Given the description of an element on the screen output the (x, y) to click on. 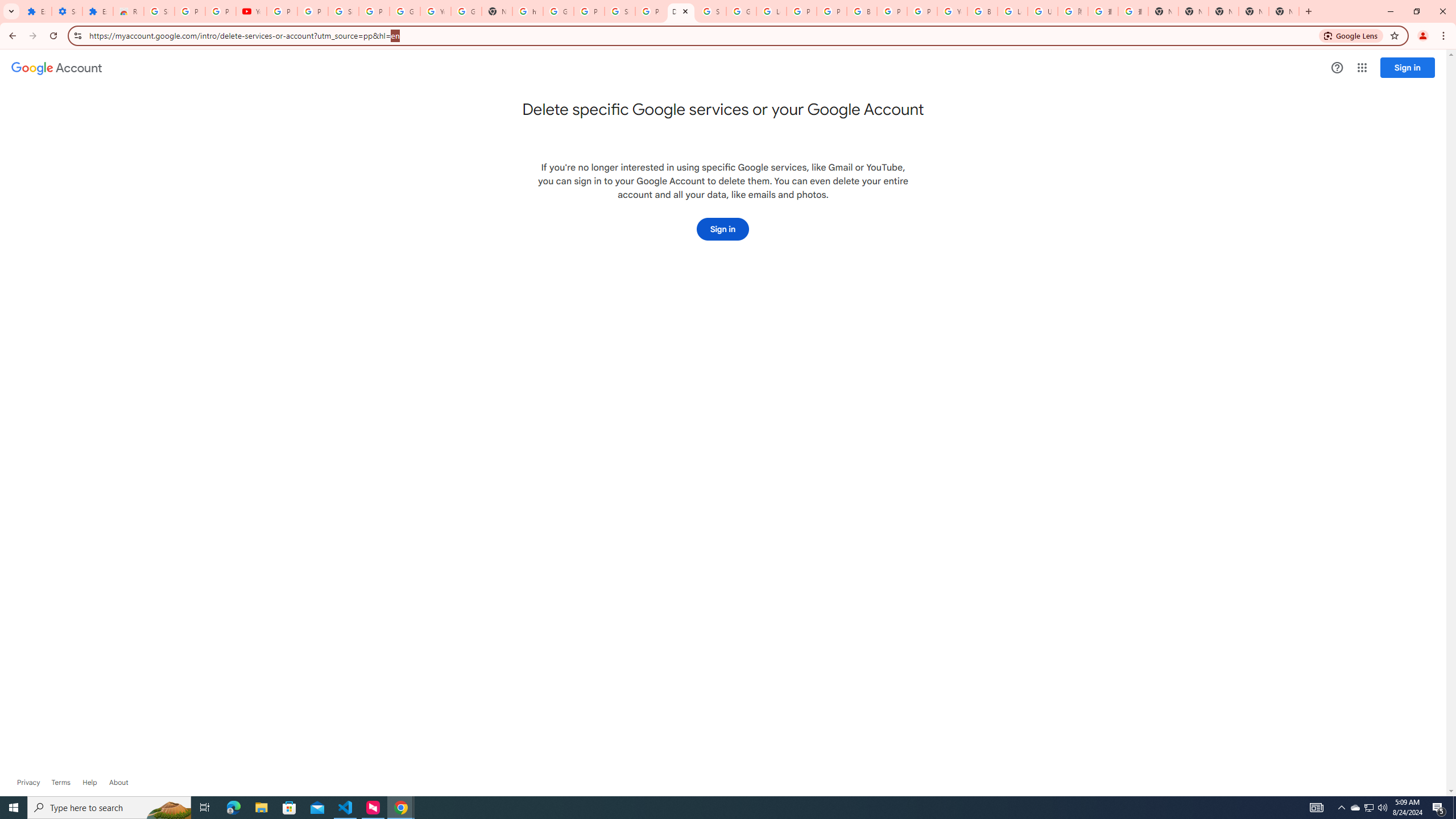
https://scholar.google.com/ (527, 11)
Search with Google Lens (1351, 35)
